Given the description of an element on the screen output the (x, y) to click on. 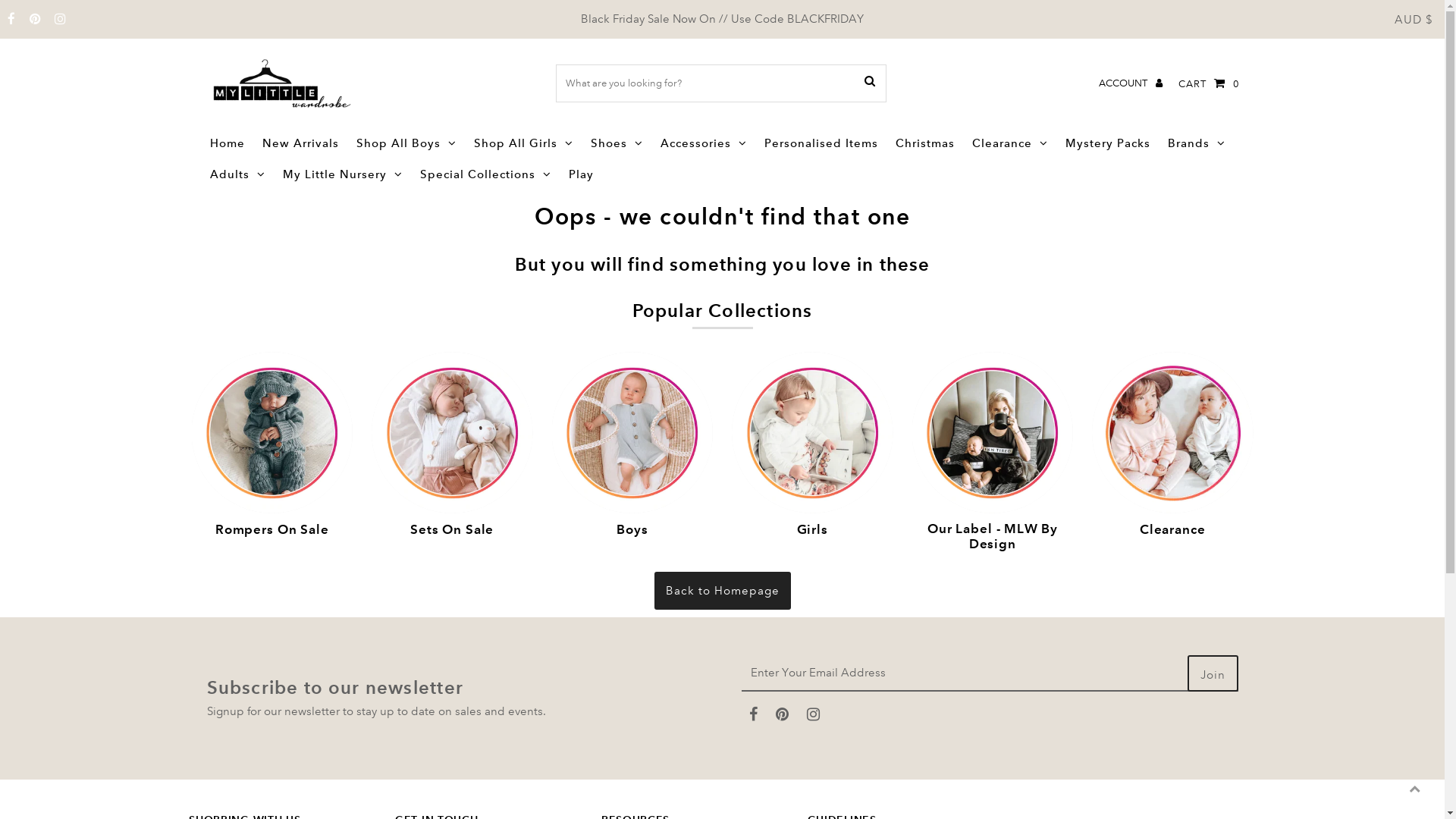
ACCOUNT Element type: text (1130, 83)
Brands Element type: text (1196, 143)
Shop All Boys Element type: text (406, 143)
Boys Element type: text (632, 530)
Back to Homepage Element type: text (721, 590)
Boys Element type: hover (632, 432)
Our Label - MLW By Design Element type: hover (992, 432)
Clearance Element type: text (1172, 530)
Girls Element type: text (812, 530)
Accessories Element type: text (703, 143)
Shoes Element type: text (616, 143)
New Arrivals Element type: text (300, 143)
Rompers On Sale Element type: text (271, 530)
Shop All Girls Element type: text (523, 143)
Clearance Element type: hover (1172, 432)
Sets On Sale Element type: text (452, 530)
My Little Nursery Element type: text (342, 174)
Join Element type: text (1212, 673)
CART0 Element type: text (1208, 83)
Special Collections Element type: text (485, 174)
Our Label - MLW By Design Element type: text (992, 537)
Home Element type: text (227, 143)
Christmas Element type: text (925, 143)
Mystery Packs Element type: text (1107, 143)
Girls Element type: hover (812, 432)
AUD $ Element type: text (1413, 19)
Adults Element type: text (237, 174)
Rompers On Sale Element type: hover (271, 432)
Sets On Sale Element type: hover (452, 432)
Play Element type: text (581, 174)
Clearance Element type: text (1009, 143)
Personalised Items Element type: text (820, 143)
